Given the description of an element on the screen output the (x, y) to click on. 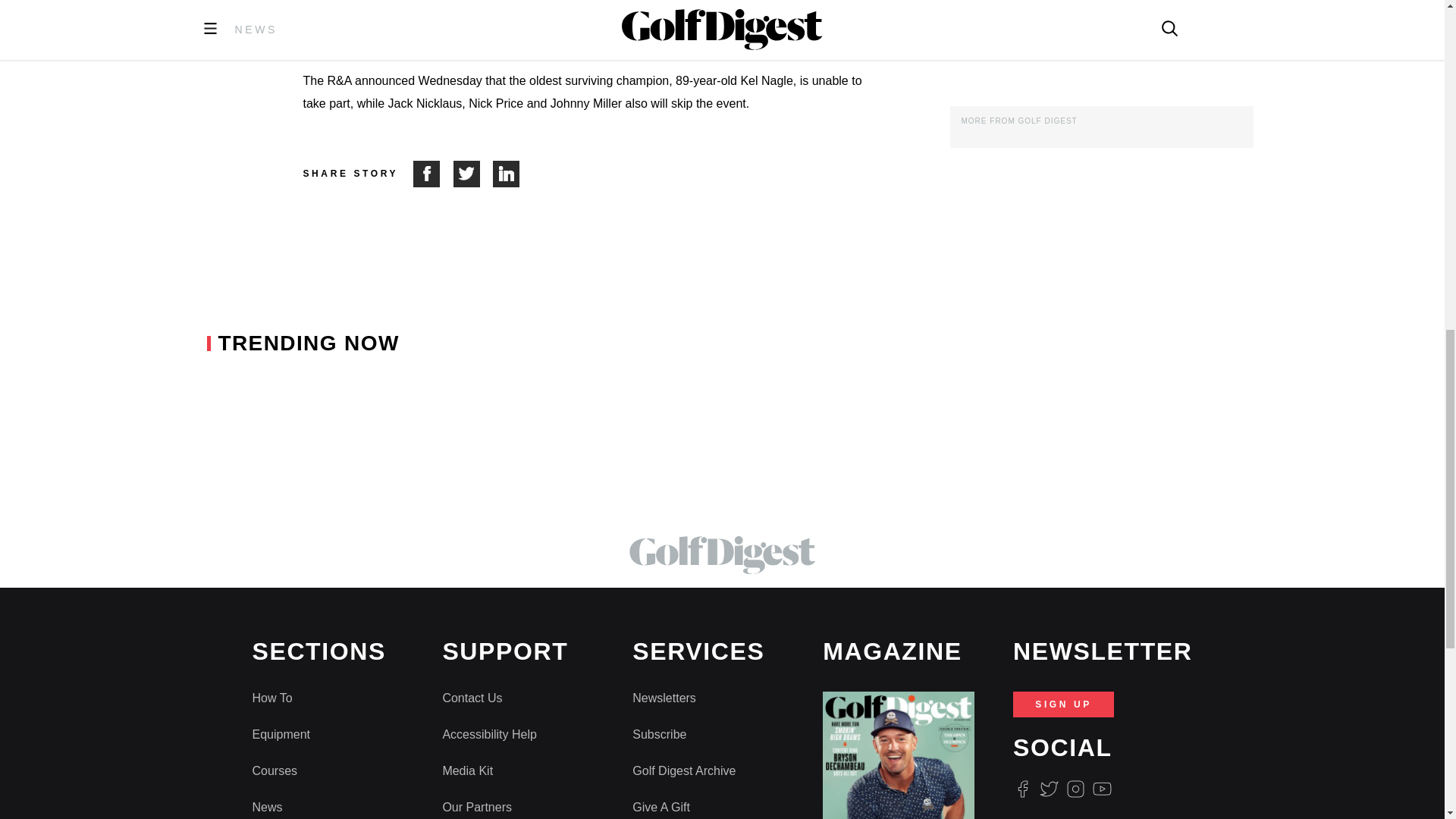
Youtube Icon (1102, 788)
Instagram Logo (1074, 788)
Share on Facebook (432, 173)
Share on LinkedIn (506, 173)
Share on Twitter (472, 173)
Twitter Logo (1048, 788)
Facebook Logo (1022, 788)
